Given the description of an element on the screen output the (x, y) to click on. 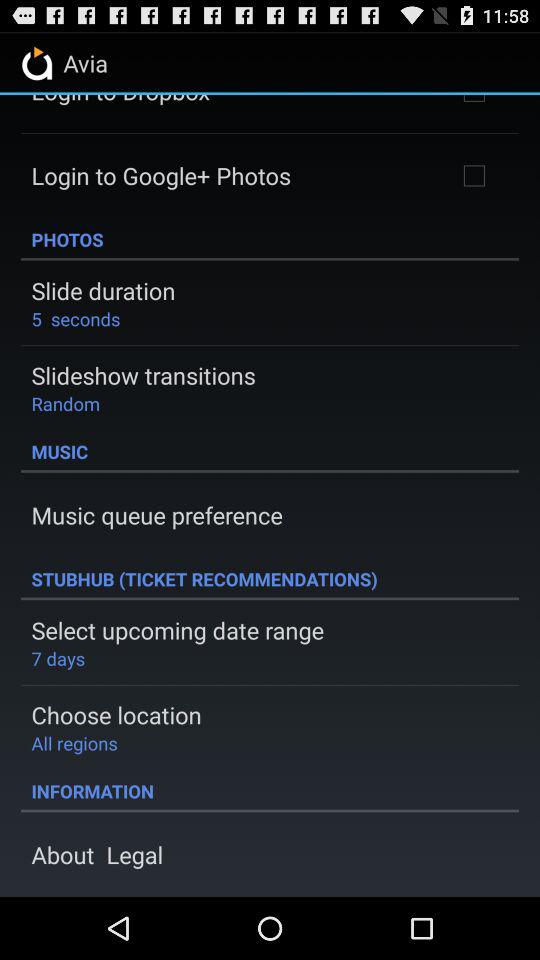
swipe until the slide duration app (103, 290)
